Given the description of an element on the screen output the (x, y) to click on. 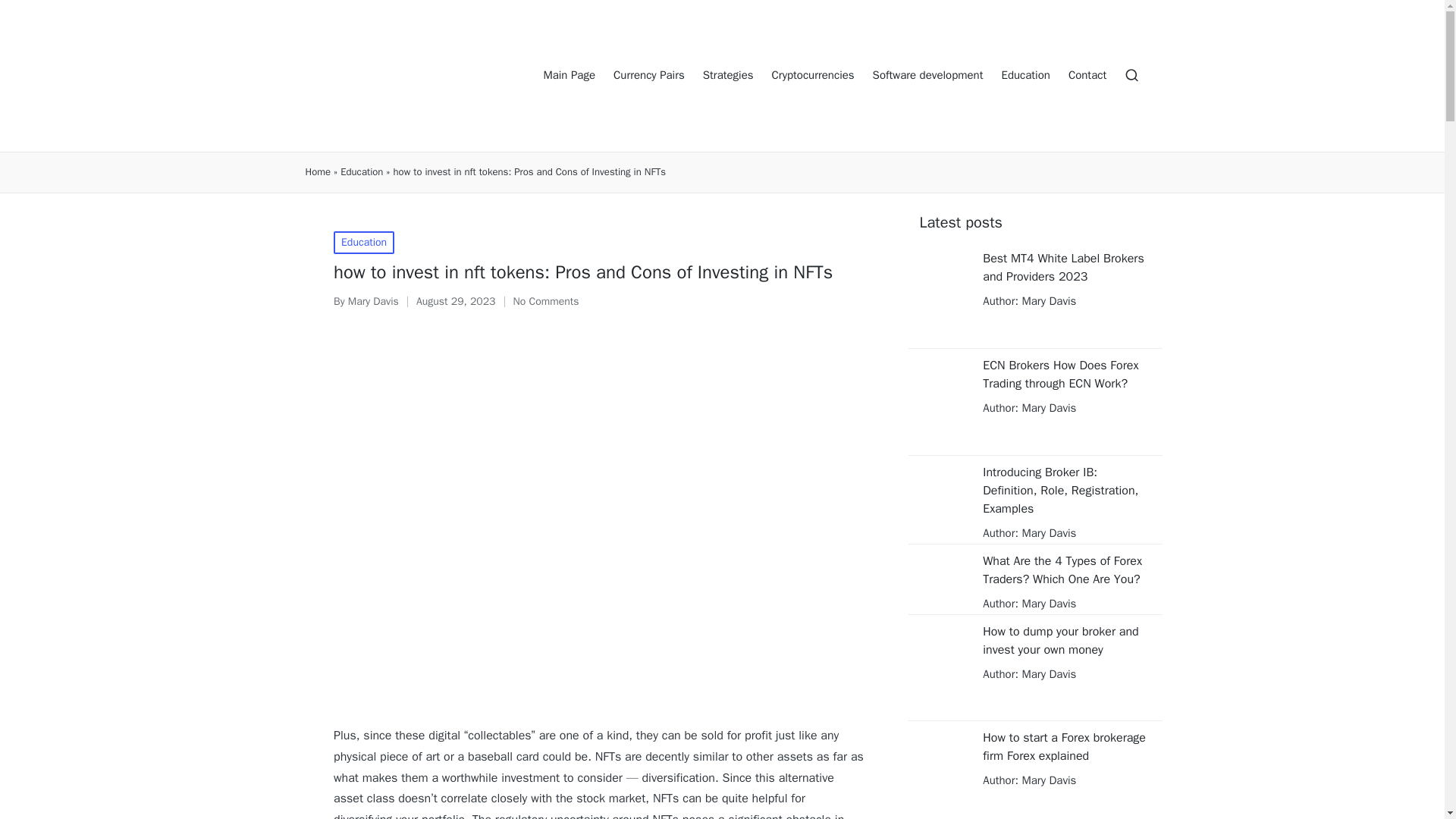
Contact (1087, 75)
Software development (928, 75)
Main Page (569, 75)
Mary Davis (372, 300)
Mary Davis (1046, 407)
How to dump your broker and invest your own money (1066, 640)
What Are the 4 Types of Forex Traders? Which One Are You? (1066, 570)
How to start a Forex brokerage firm Forex explained (1066, 746)
Mary Davis (1046, 532)
Mary Davis (1046, 300)
